Given the description of an element on the screen output the (x, y) to click on. 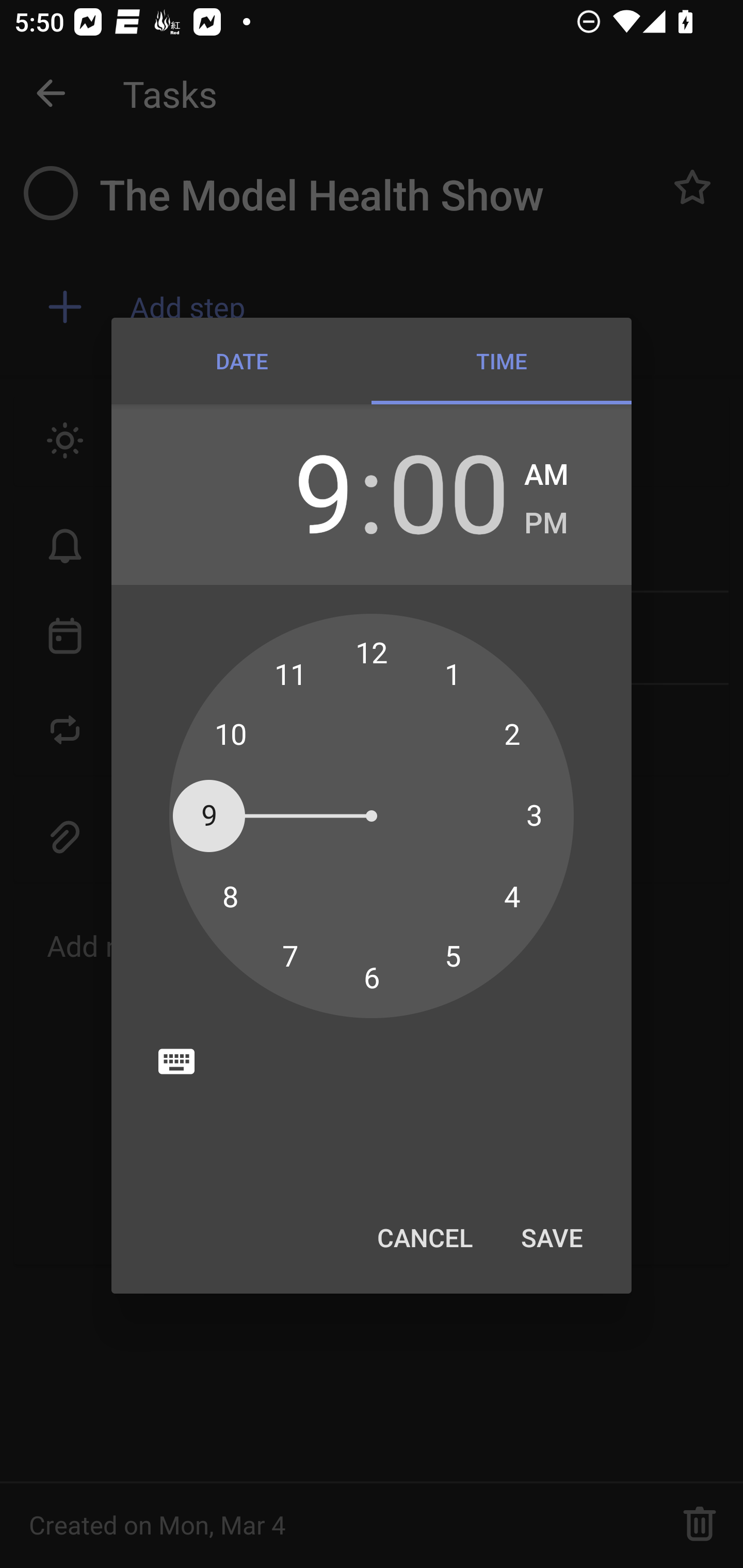
Date DATE (241, 361)
Time TIME (501, 361)
9 (293, 490)
00 (448, 490)
AM (546, 474)
PM (546, 523)
Switch to text input mode for the time input. (175, 1061)
CANCEL (424, 1236)
SAVE (552, 1236)
